Given the description of an element on the screen output the (x, y) to click on. 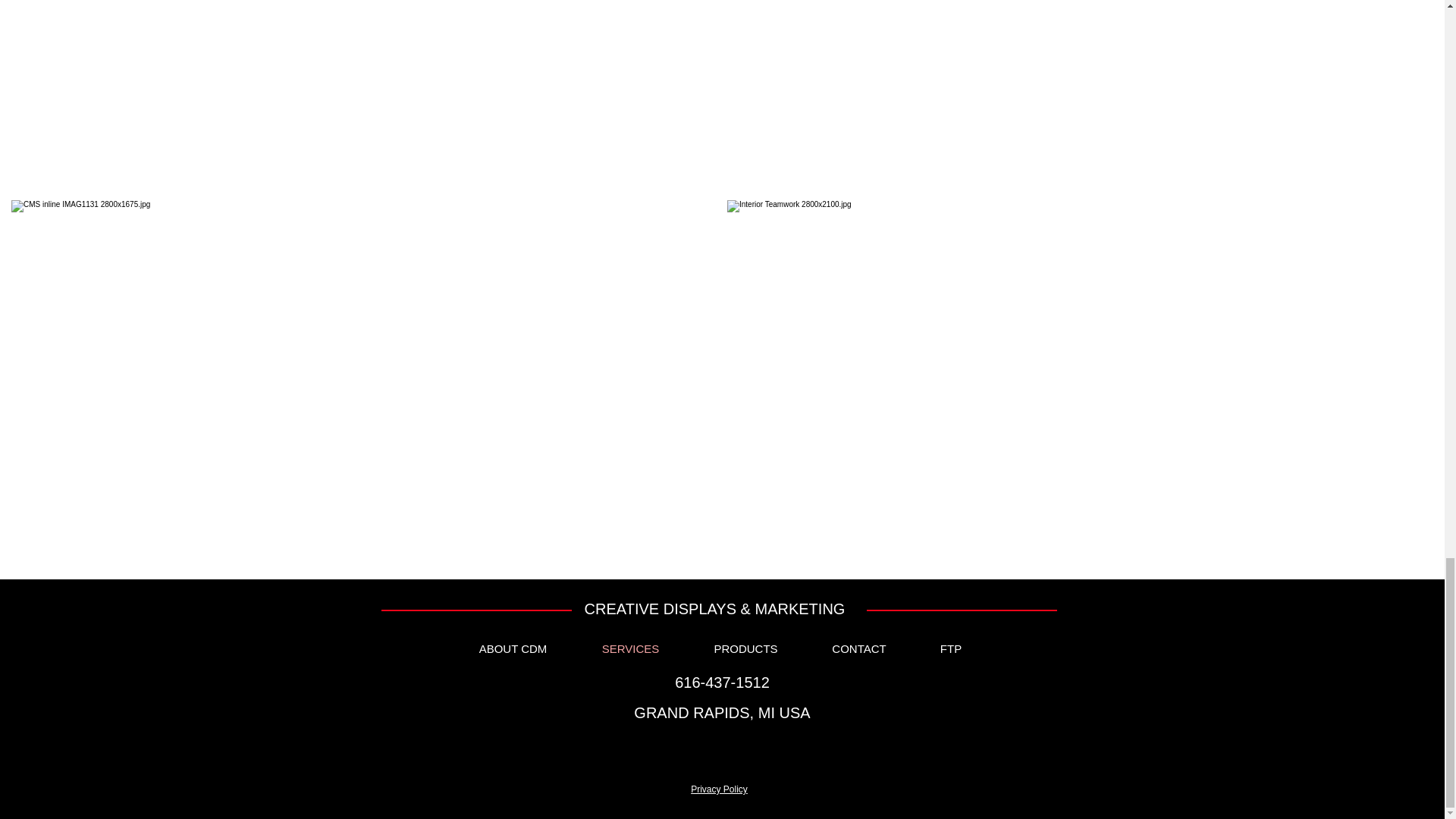
Privacy Policy (719, 788)
SERVICES (631, 648)
ABOUT CDM (513, 648)
CONTACT (859, 648)
616-437-1512 (722, 682)
FTP (950, 648)
PRODUCTS (746, 648)
